Given the description of an element on the screen output the (x, y) to click on. 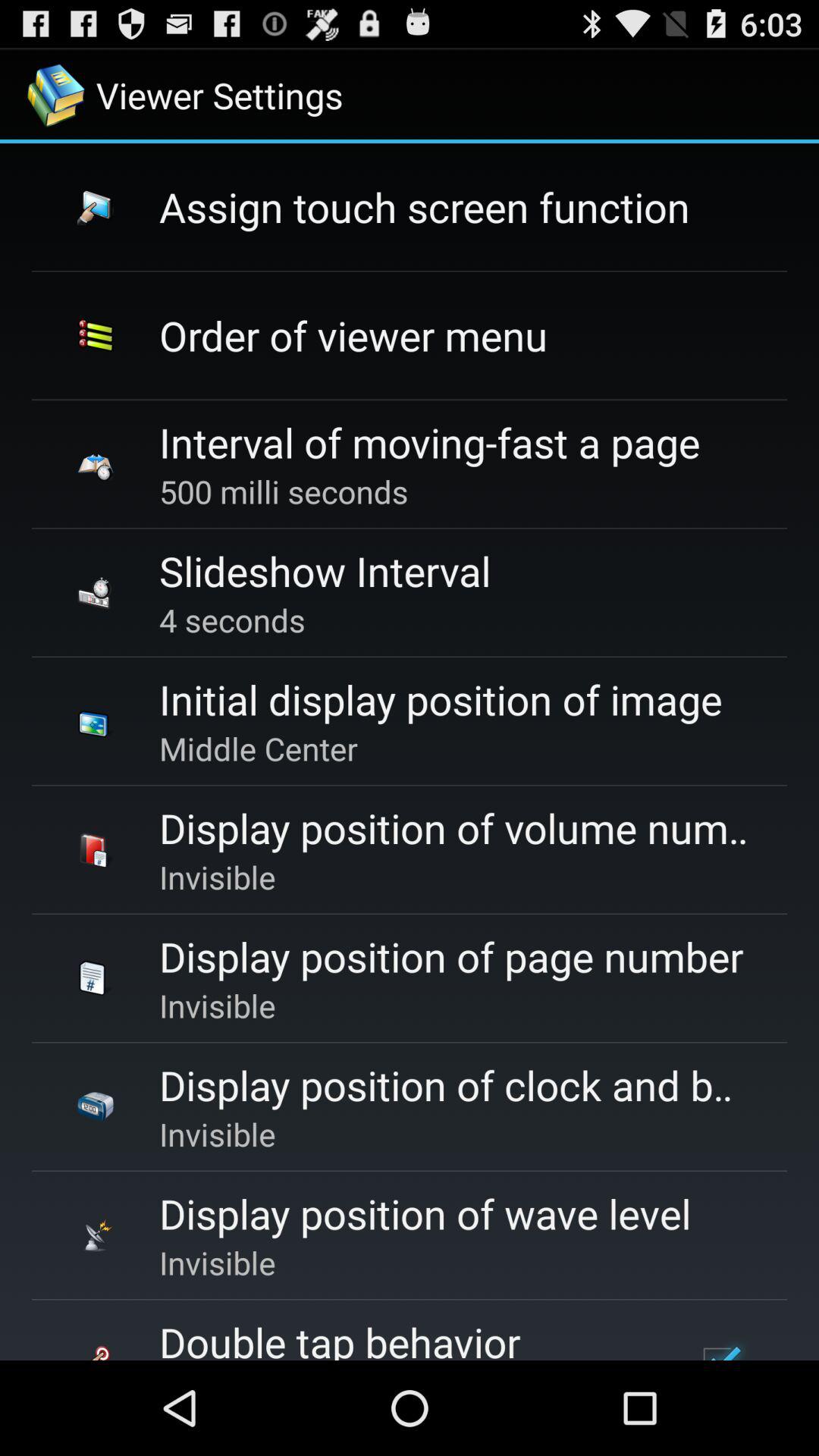
turn on the order of viewer icon (353, 334)
